Given the description of an element on the screen output the (x, y) to click on. 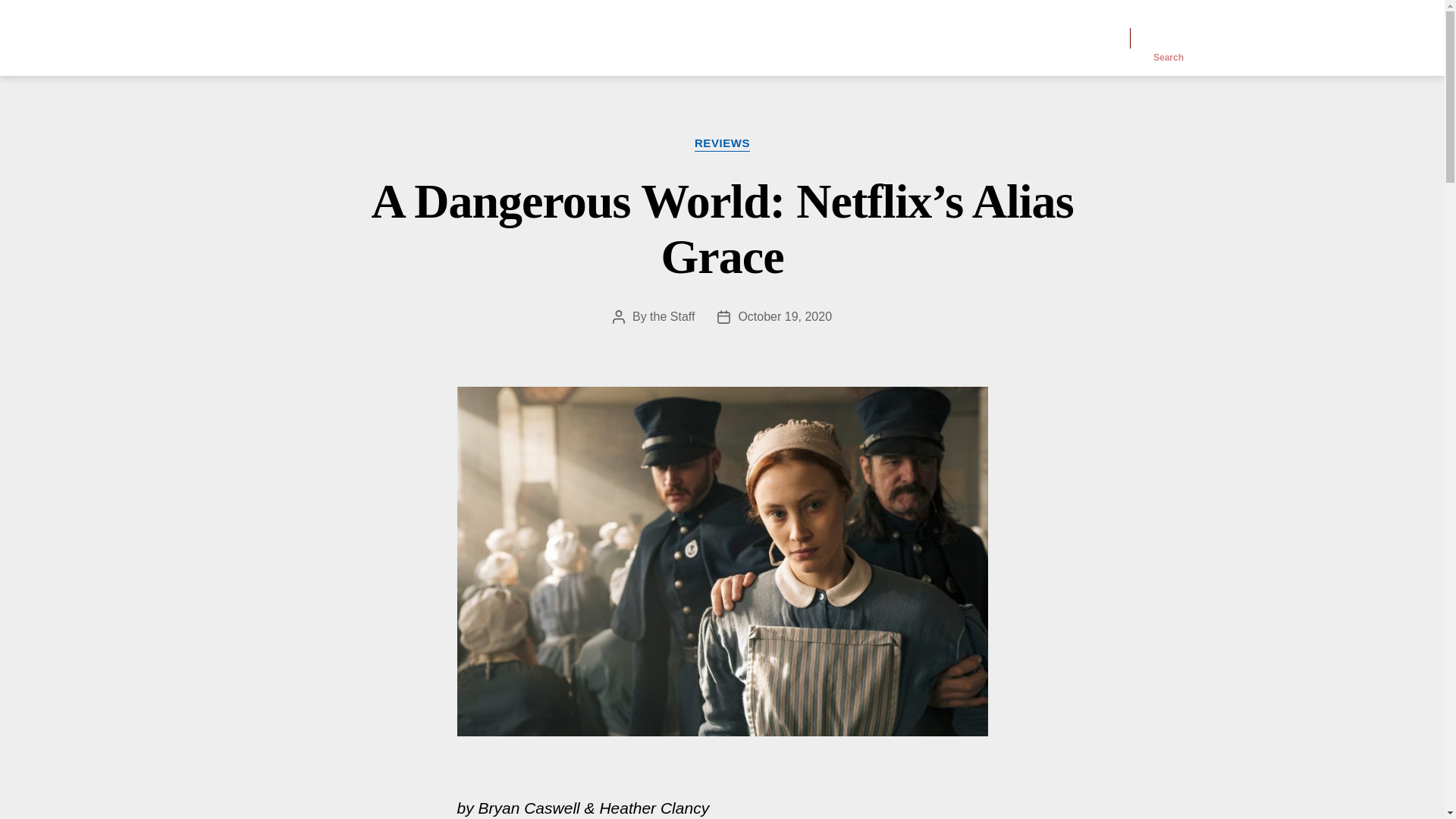
October 19, 2020 (784, 315)
the Staff (671, 315)
HOME (875, 37)
Search (1168, 37)
CONCERNING HISTORY (430, 37)
CONTRIBUTORS (1042, 37)
ABOUT (941, 37)
REVIEWS (721, 143)
